Given the description of an element on the screen output the (x, y) to click on. 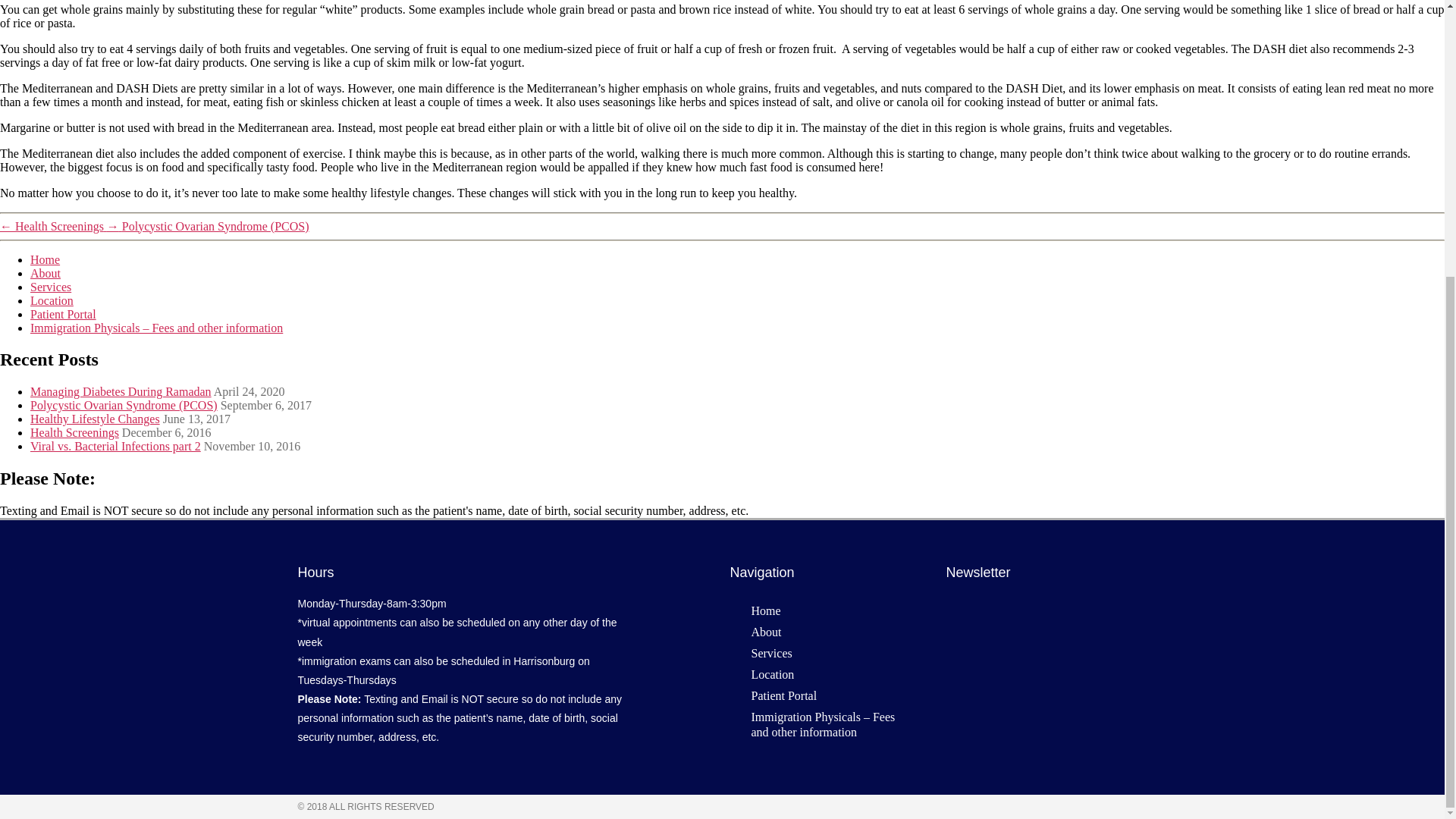
About (45, 273)
About (829, 631)
Location (52, 300)
Managing Diabetes During Ramadan (120, 391)
Patient Portal (829, 695)
Healthy Lifestyle Changes (95, 418)
Location (829, 674)
Services (829, 653)
Home (829, 610)
Health Screenings (74, 431)
2015 Reservoir St, Harrisonburg, VA 22801 (1046, 670)
Services (50, 286)
Viral vs. Bacterial Infections part 2 (115, 445)
Home (44, 259)
Patient Portal (63, 314)
